Given the description of an element on the screen output the (x, y) to click on. 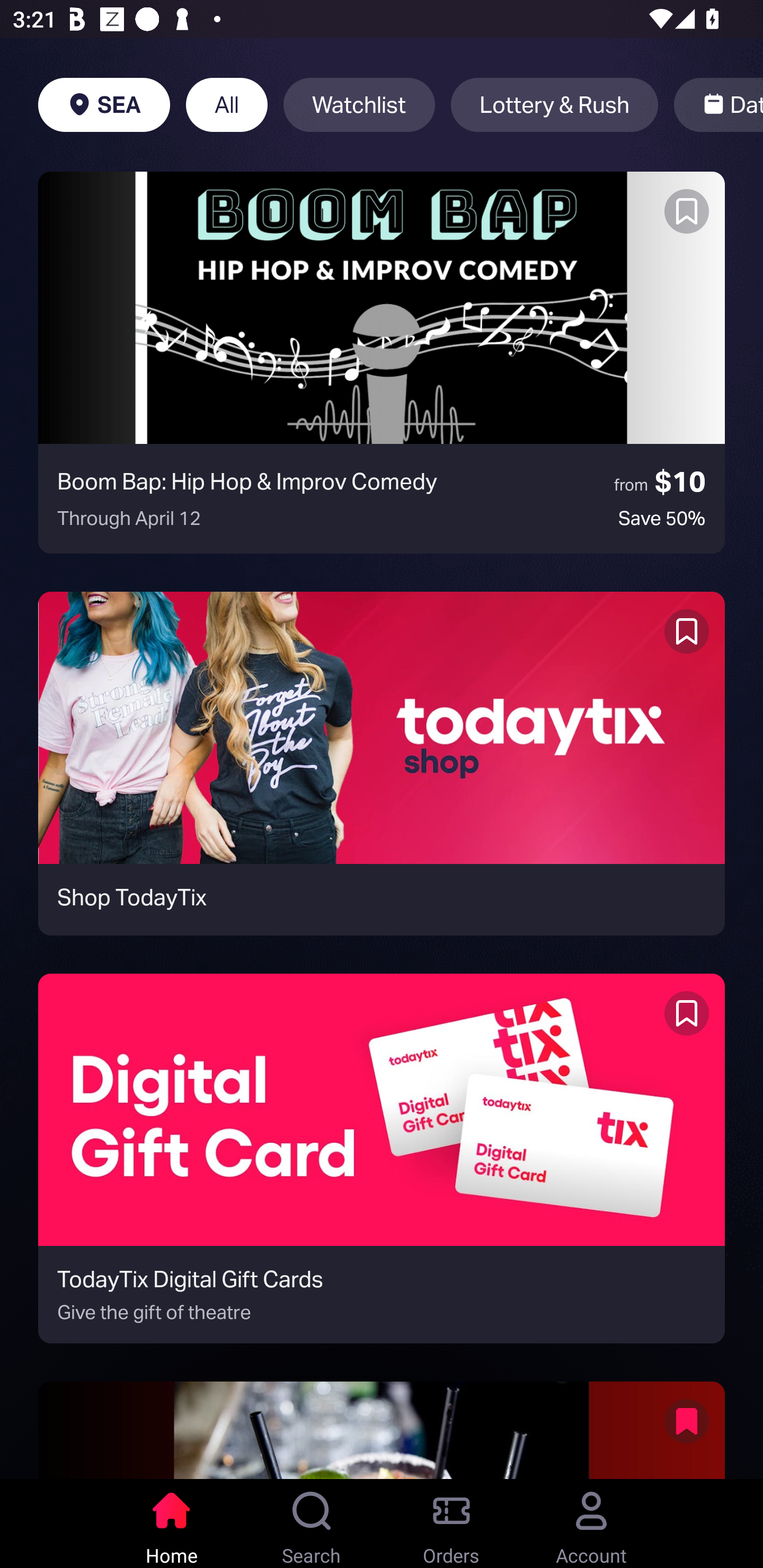
SEA (104, 104)
All (226, 104)
Watchlist (358, 104)
Lottery & Rush (553, 104)
Shop TodayTix (381, 763)
Search (311, 1523)
Orders (451, 1523)
Account (591, 1523)
